Given the description of an element on the screen output the (x, y) to click on. 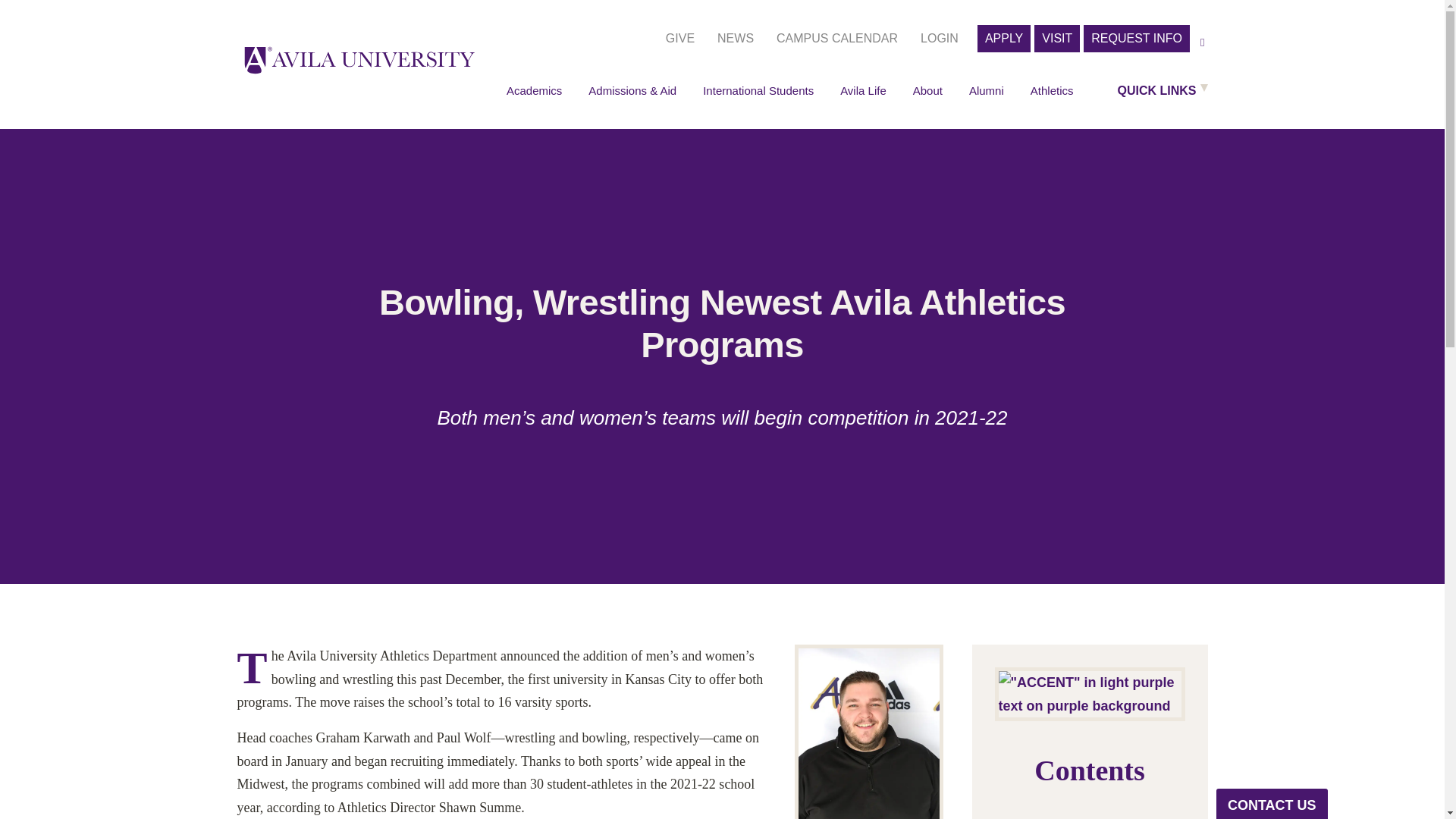
APPLY (1003, 38)
REQUEST INFO (1136, 38)
GIVE (679, 38)
Avila Life (863, 91)
Campus Calendar (837, 38)
International Students (758, 91)
News (735, 38)
NEWS (735, 38)
CAMPUS CALENDAR (837, 38)
VISIT (1056, 38)
